Given the description of an element on the screen output the (x, y) to click on. 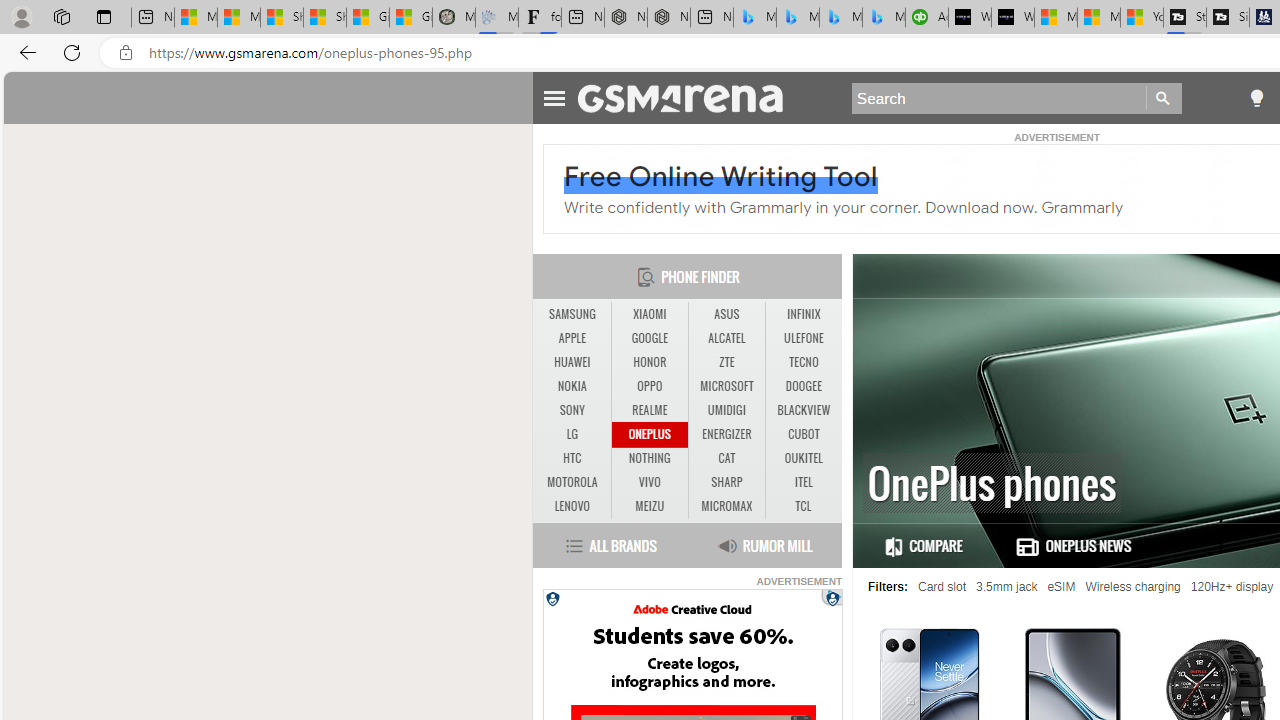
LENOVO (571, 506)
APPLE (571, 339)
TECNO (803, 362)
MICROMAX (726, 506)
HUAWEI (571, 362)
ONEPLUS (649, 434)
ASUS (726, 314)
MOTOROLA (571, 482)
MICROSOFT (726, 386)
Microsoft Bing Travel - Shangri-La Hotel Bangkok (883, 17)
UMIDIGI (726, 411)
ULEFONE (803, 338)
